Given the description of an element on the screen output the (x, y) to click on. 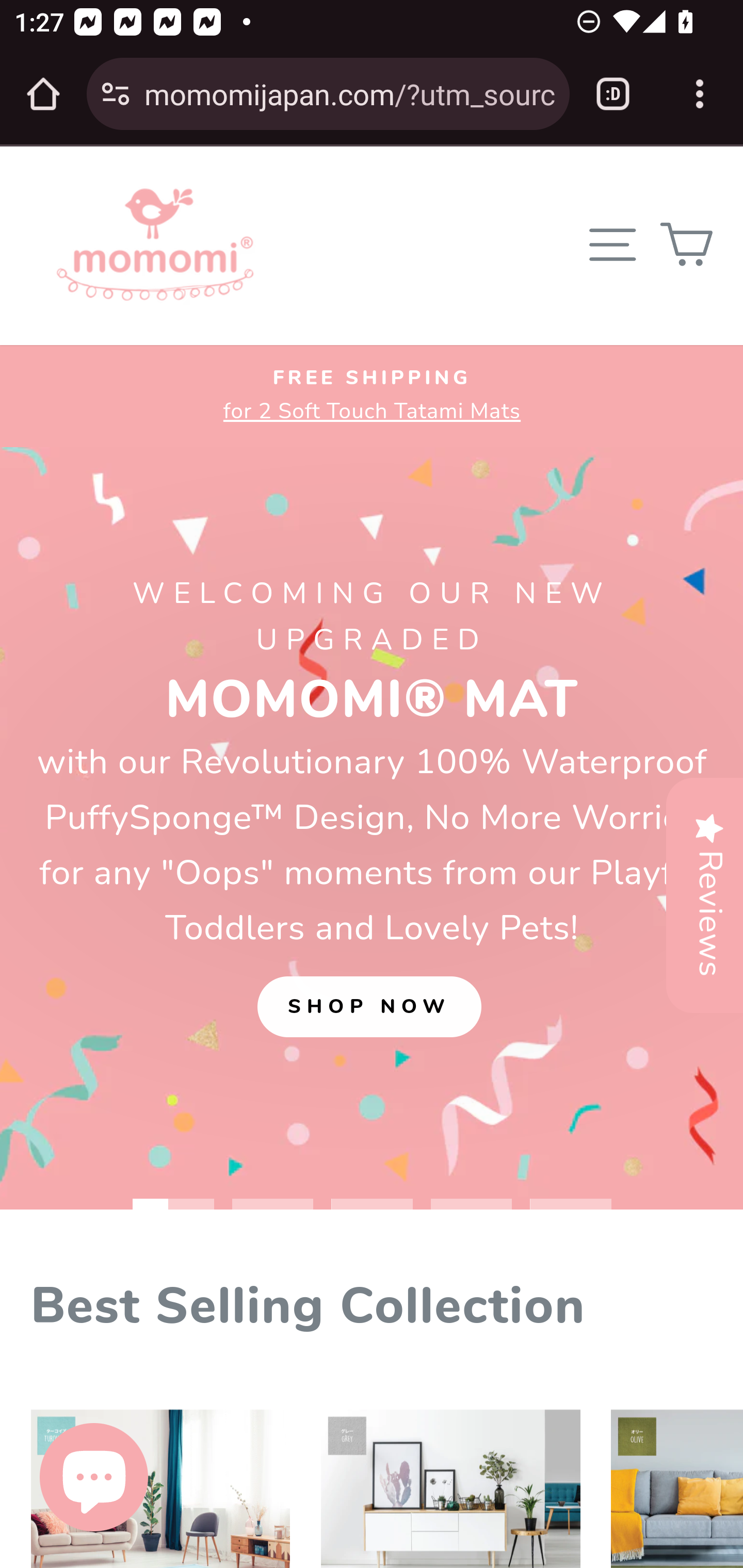
Open the home page (43, 93)
Connection is secure (115, 93)
Switch or close tabs (612, 93)
Customize and control Google Chrome (699, 93)
Site navigation (611, 244)
Cart (685, 244)
Reviews (703, 895)
SHOP NOW (369, 1006)
Momomi® Mat (Grey) from HK$1,000.00 (450, 1476)
